Given the description of an element on the screen output the (x, y) to click on. 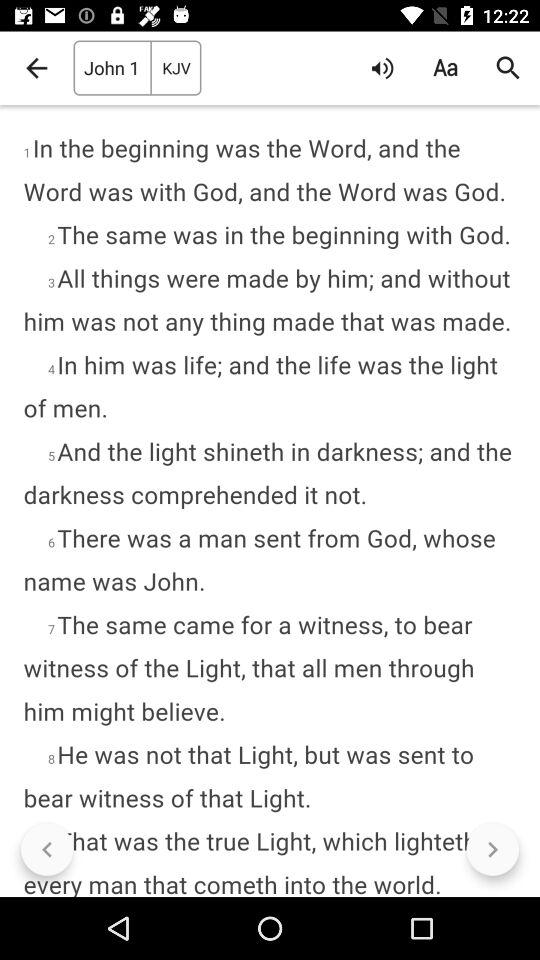
open kjv item (176, 67)
